Given the description of an element on the screen output the (x, y) to click on. 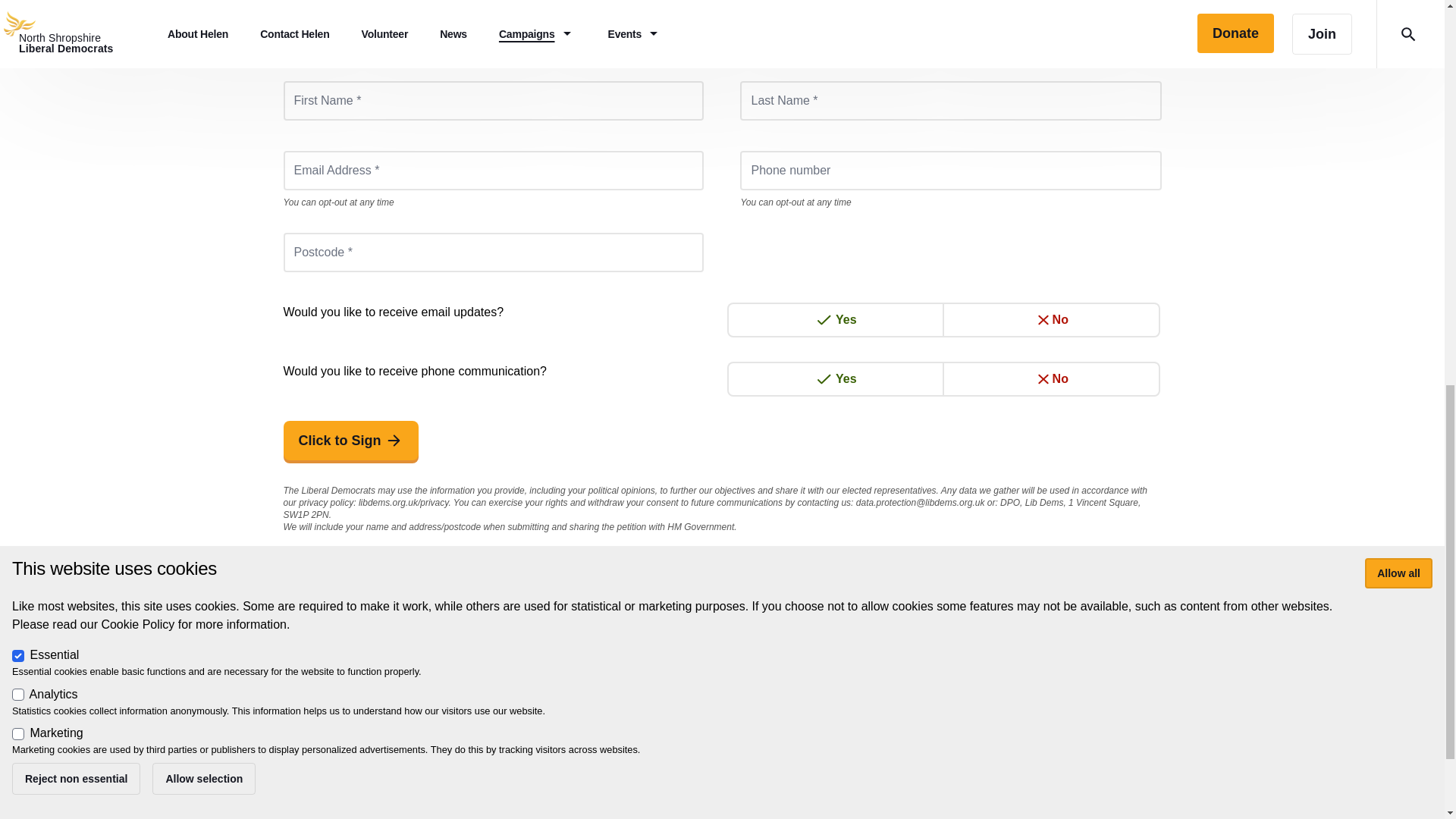
accessibility statement (635, 783)
Click to Sign (351, 439)
cookie policy (741, 783)
Liberal Democrats (406, 812)
